Given the description of an element on the screen output the (x, y) to click on. 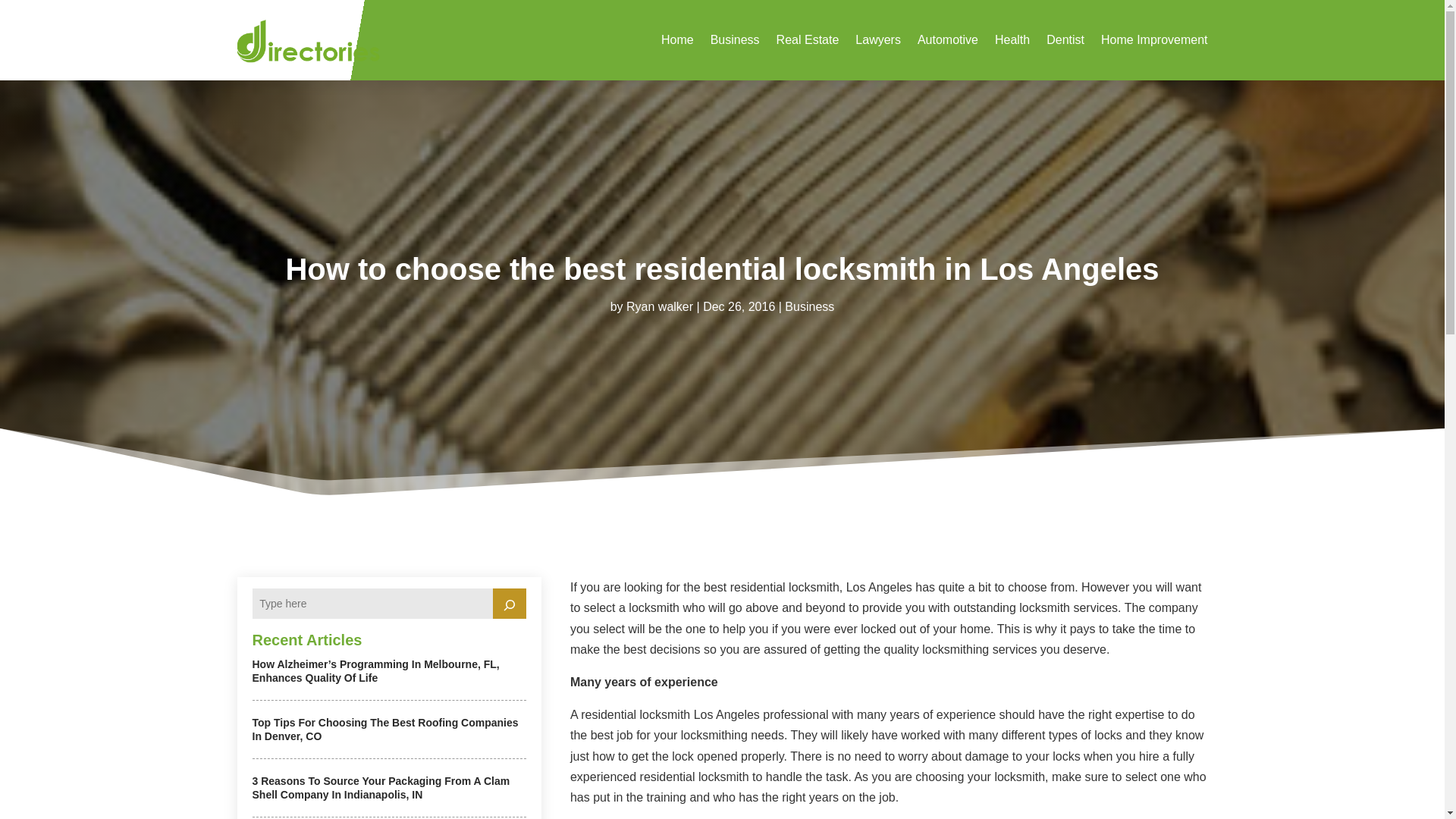
Posts by Ryan walker (659, 306)
Ryan walker (659, 306)
Business (809, 306)
Automotive (947, 39)
Home Improvement (1154, 39)
Real Estate (808, 39)
